Given the description of an element on the screen output the (x, y) to click on. 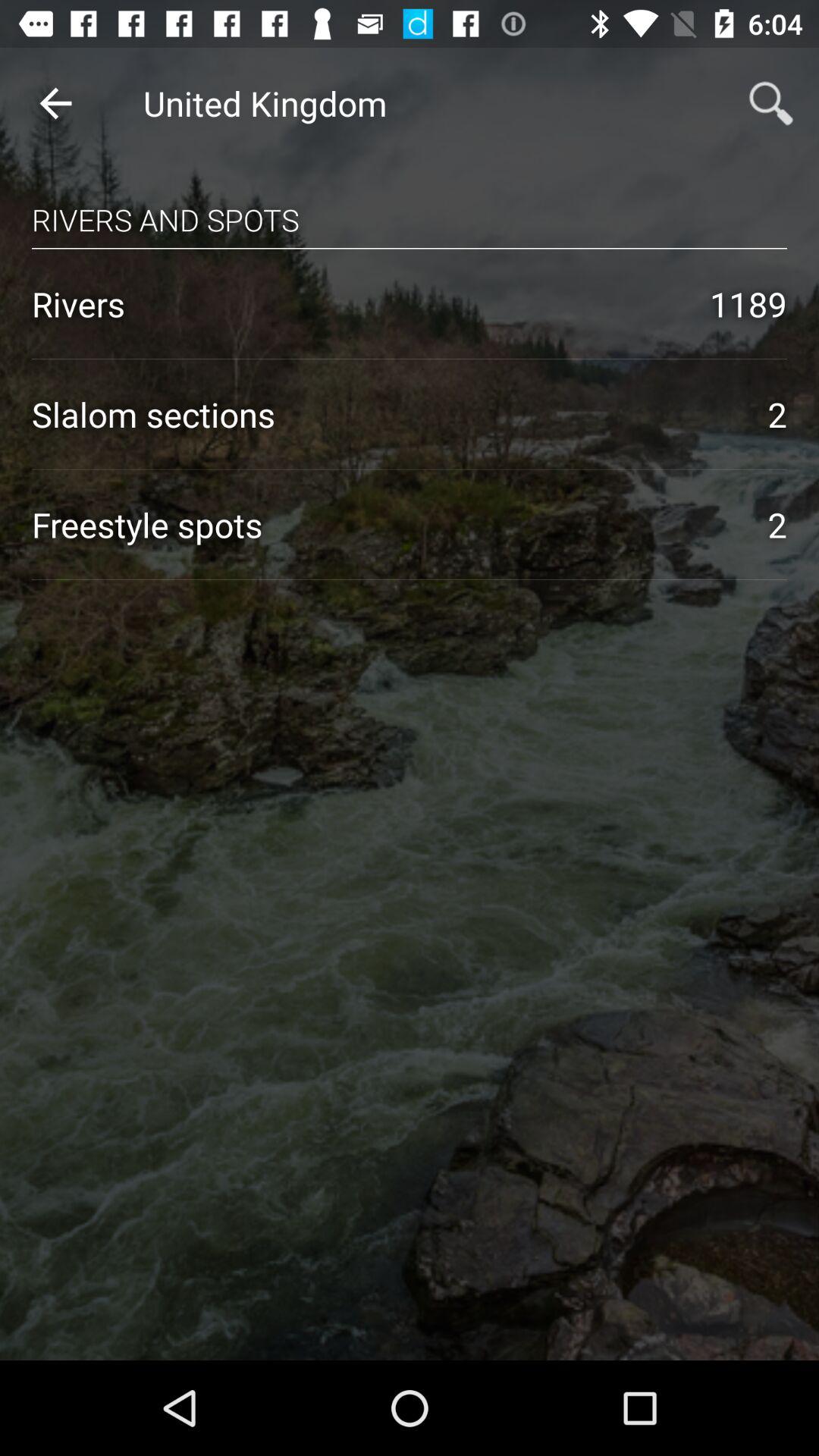
tap item below the rivers and spots icon (409, 248)
